Given the description of an element on the screen output the (x, y) to click on. 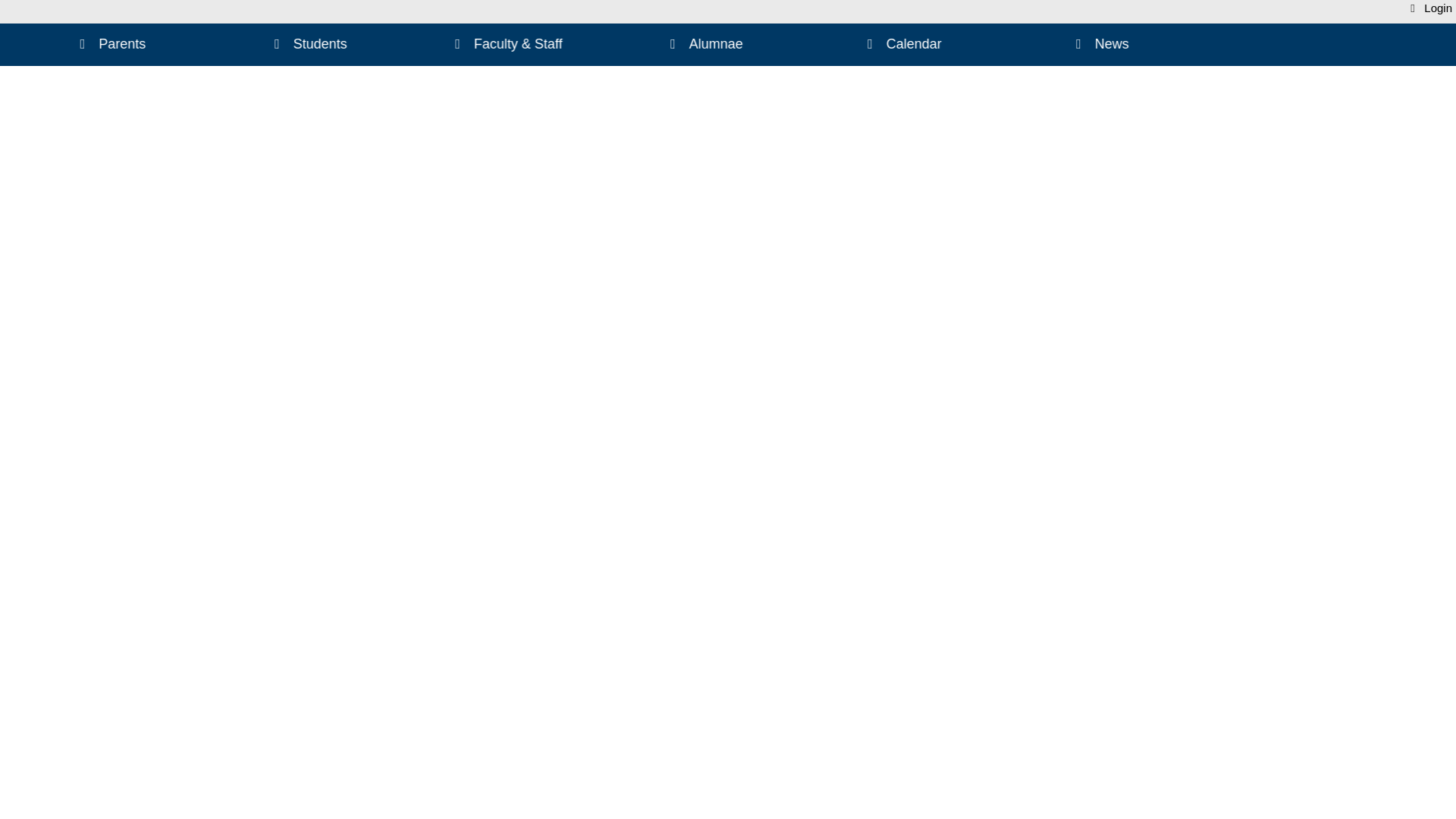
  Login (1430, 7)
news (1099, 44)
Students (307, 44)
Alumnae (702, 44)
Calendar (901, 44)
Parents (110, 44)
News (1099, 44)
